Given the description of an element on the screen output the (x, y) to click on. 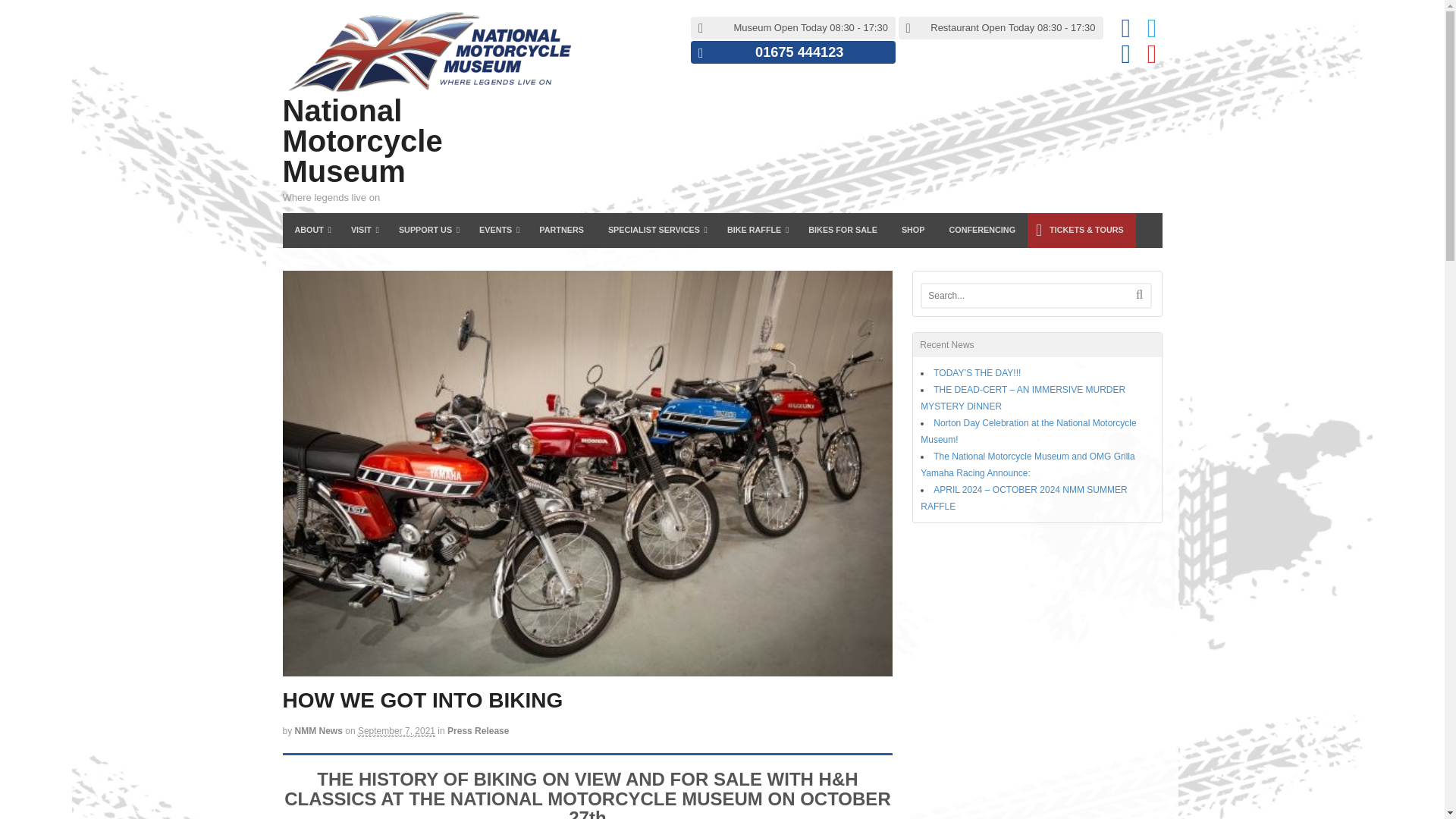
ABOUT (309, 230)
National Motorcycle Museum (362, 141)
View all items in Press Release (477, 730)
Where legends live on (426, 87)
01675 444123 (799, 52)
Posts by NMM News (318, 730)
Search... (1024, 295)
